Given the description of an element on the screen output the (x, y) to click on. 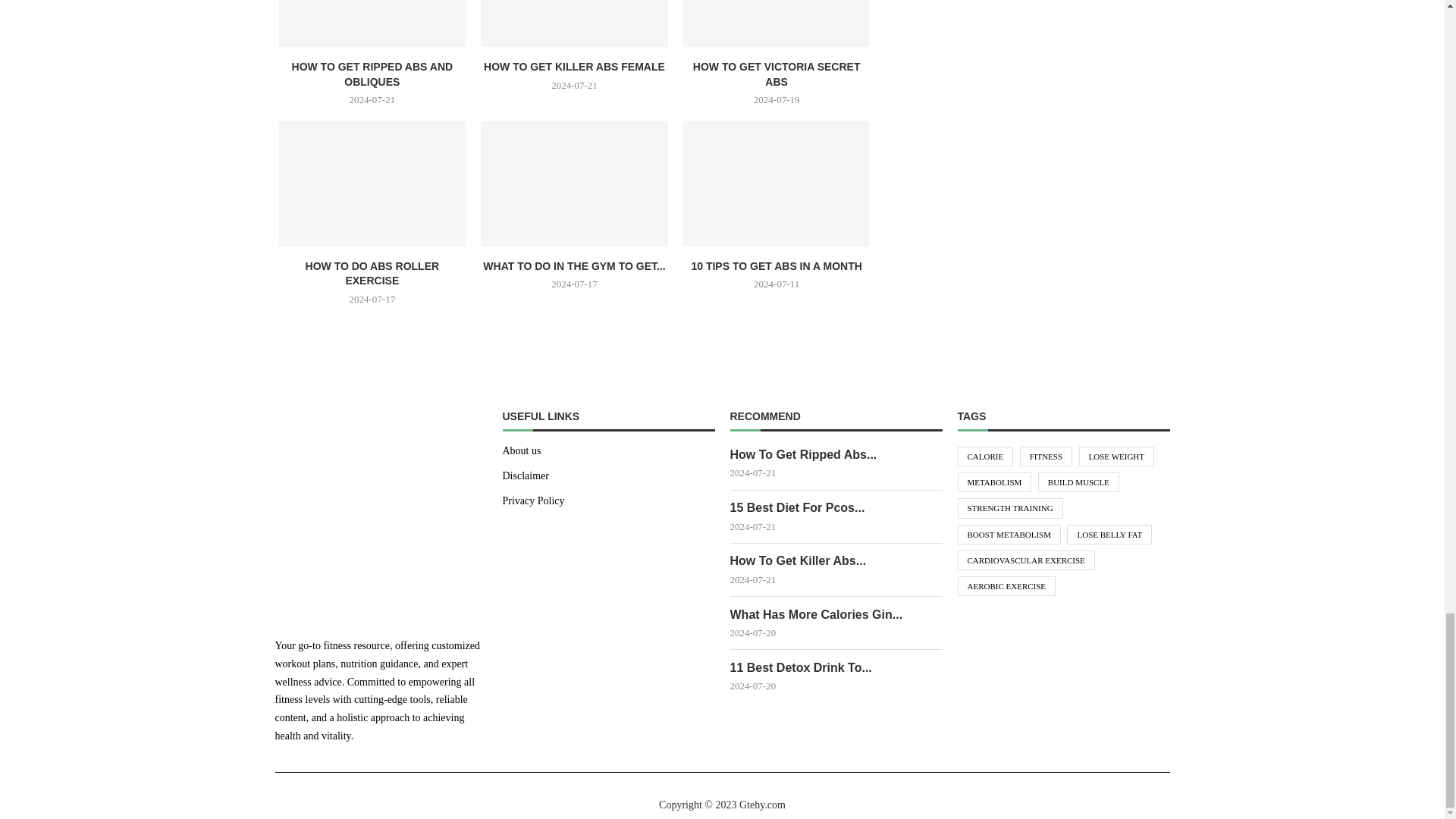
How To Get Victoria Secret Abs (776, 23)
How To Get Killer Abs Female (574, 23)
What To Do In The Gym To Get Abs (574, 183)
How To Get Ripped Abs And Obliques (372, 23)
10 Tips To Get Abs In A Month (776, 183)
How To Do Abs Roller Exercise (372, 183)
